Given the description of an element on the screen output the (x, y) to click on. 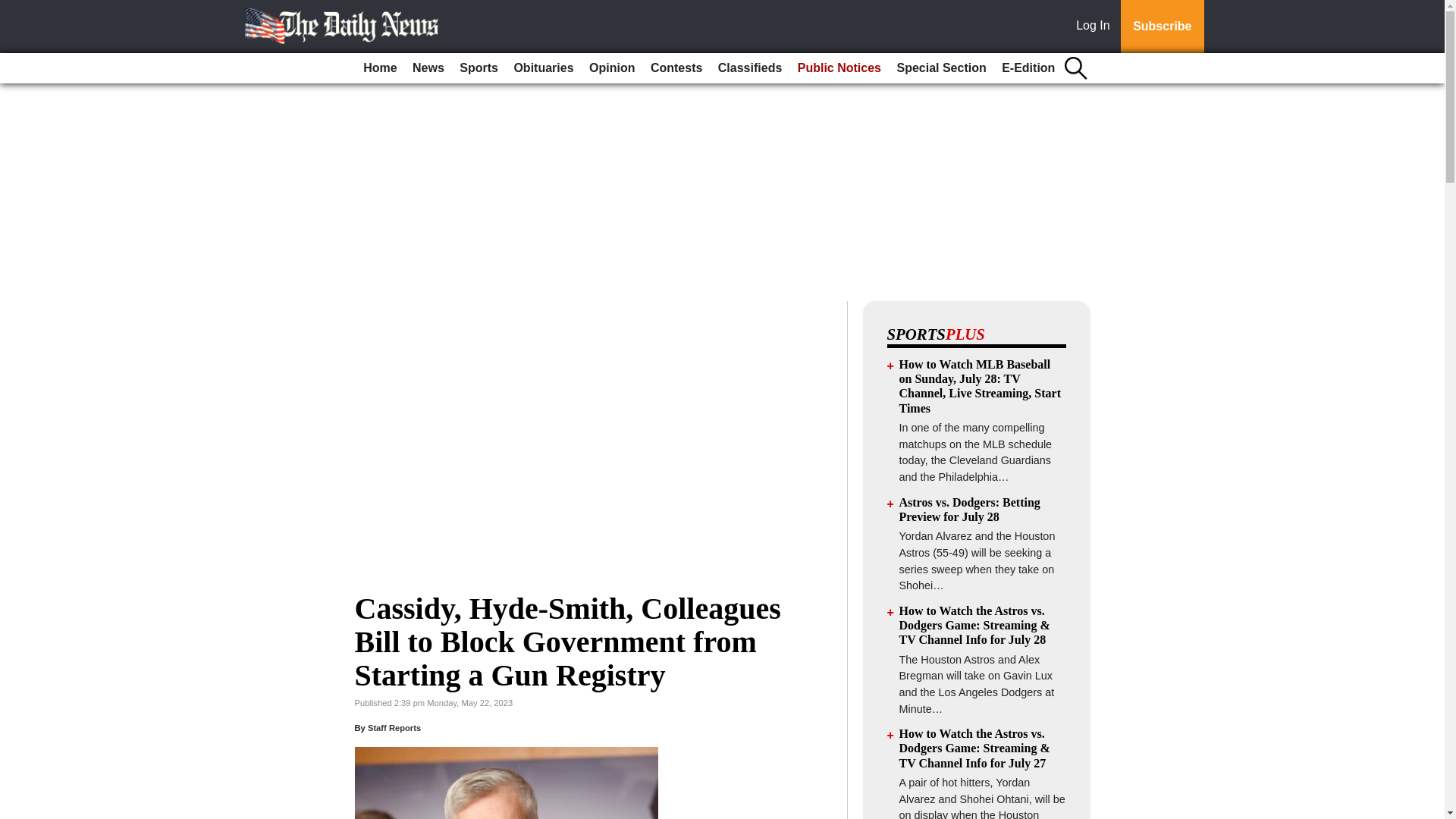
Classifieds (749, 68)
Special Section (940, 68)
Log In (1095, 26)
Sports (477, 68)
News (427, 68)
E-Edition (1028, 68)
Obituaries (542, 68)
Contests (676, 68)
Staff Reports (394, 727)
Opinion (611, 68)
Astros vs. Dodgers: Betting Preview for July 28 (970, 509)
Subscribe (1162, 26)
Home (379, 68)
Go (13, 9)
